Given the description of an element on the screen output the (x, y) to click on. 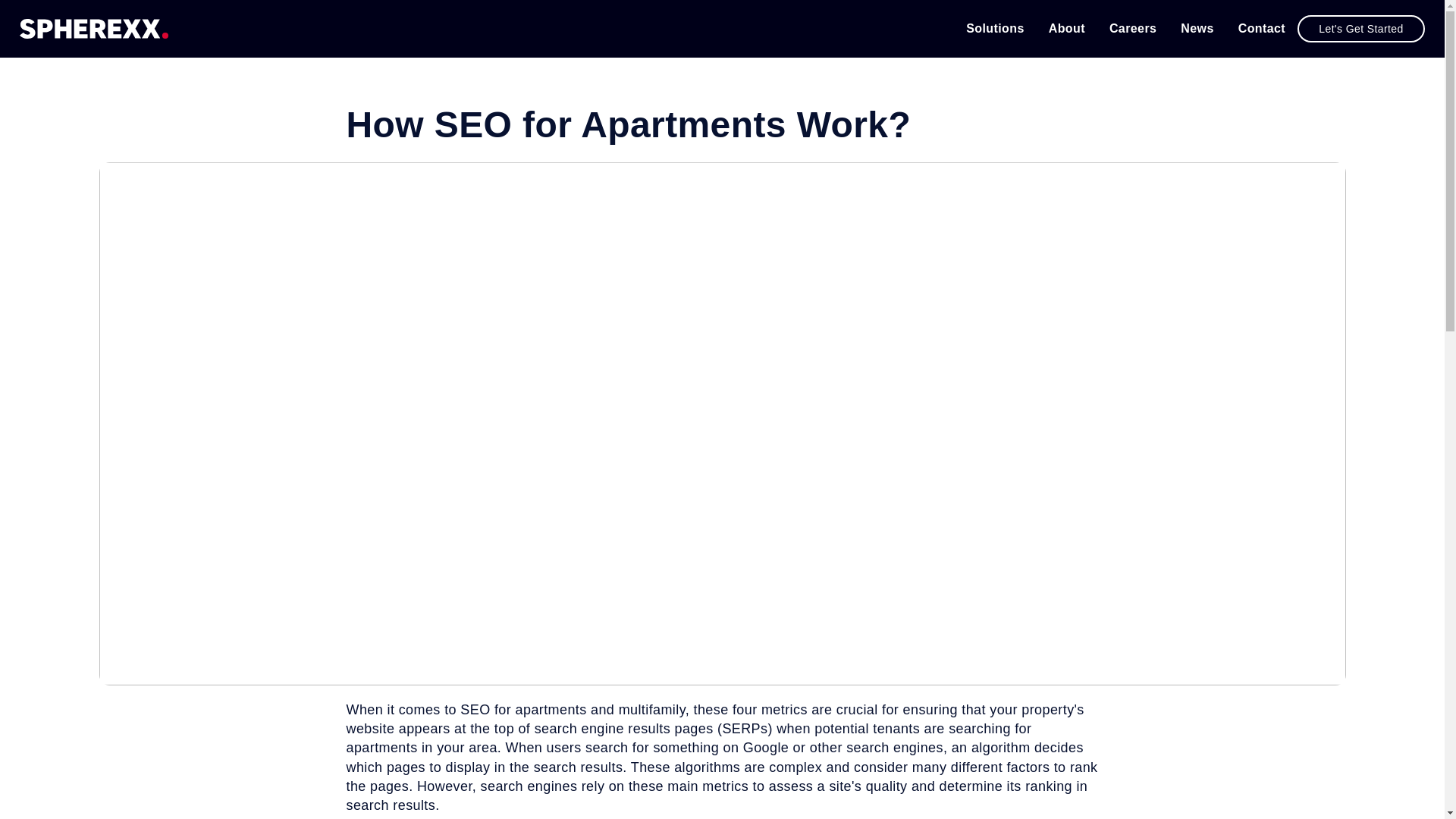
News (1196, 28)
Skip to Main Content (49, 52)
About (1066, 28)
Contact (1262, 28)
Let's Get Started (1361, 28)
Skip to Footer (49, 53)
Careers (1132, 28)
Enable Accessibility Mode (49, 52)
Solutions (994, 28)
